Given the description of an element on the screen output the (x, y) to click on. 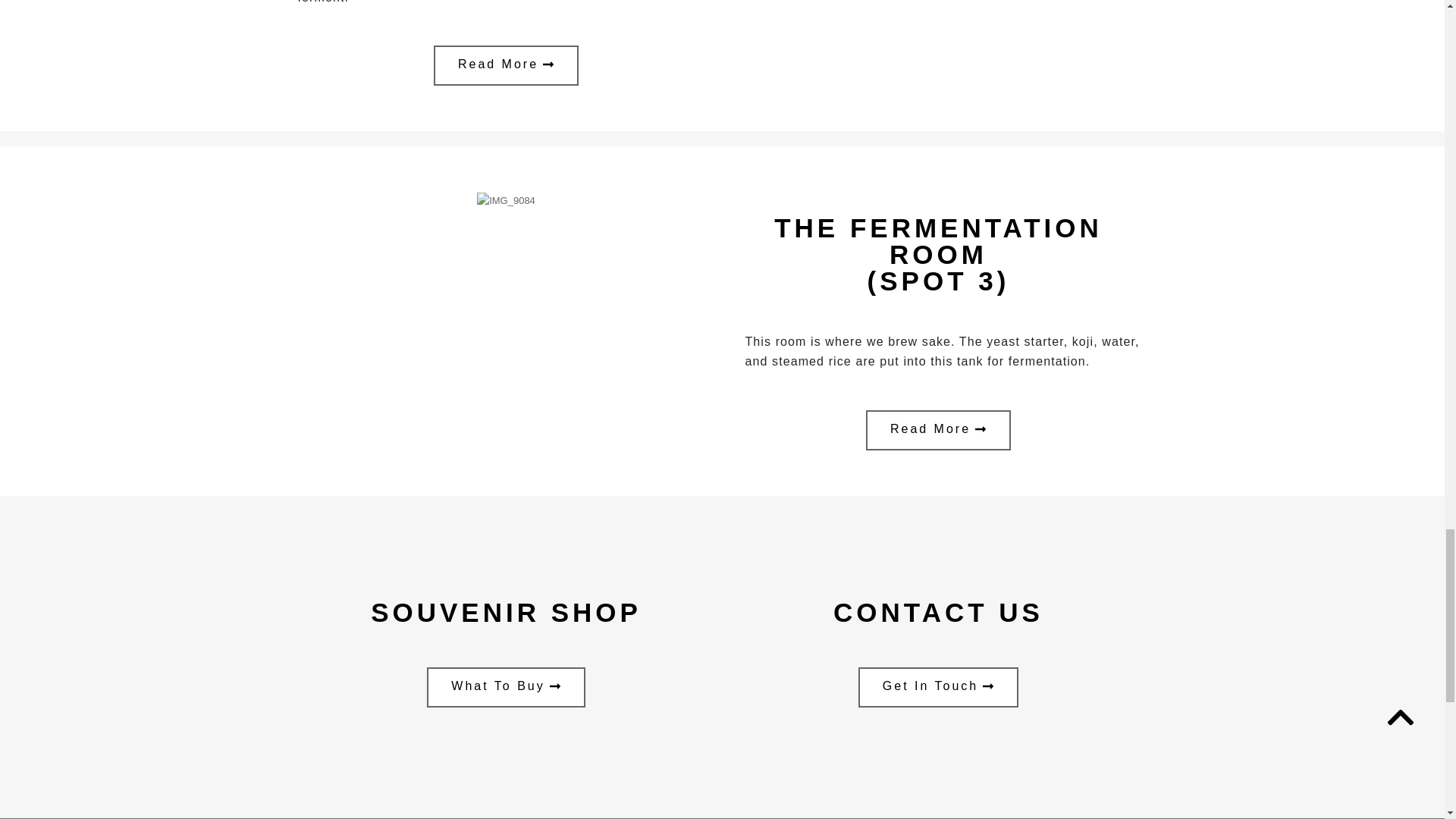
What To Buy (505, 687)
Get In Touch (938, 687)
Read More (938, 430)
Read More (505, 65)
